Given the description of an element on the screen output the (x, y) to click on. 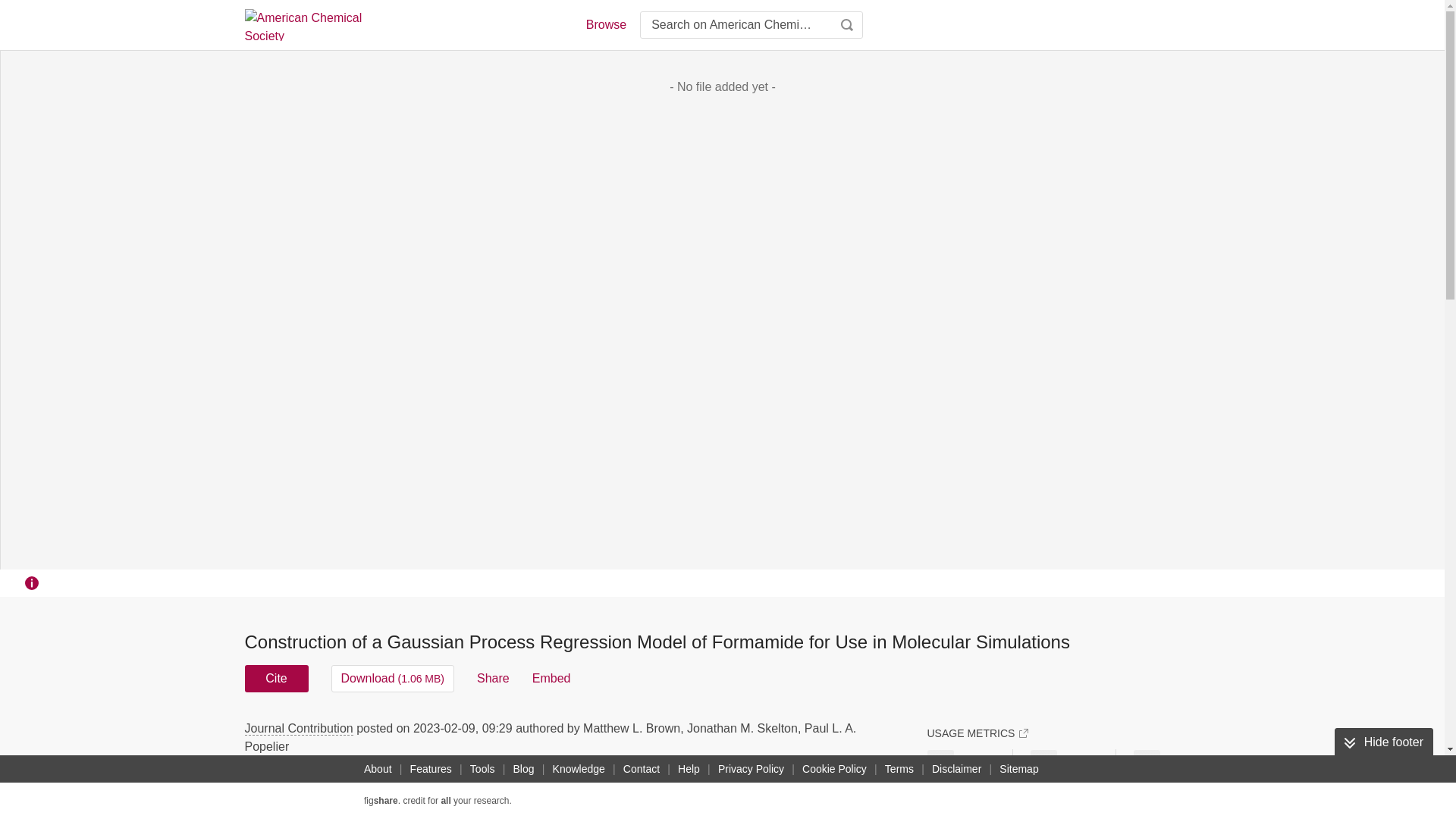
Share (493, 678)
Cite (275, 678)
Embed (551, 678)
USAGE METRICS (976, 732)
Browse (605, 24)
